Given the description of an element on the screen output the (x, y) to click on. 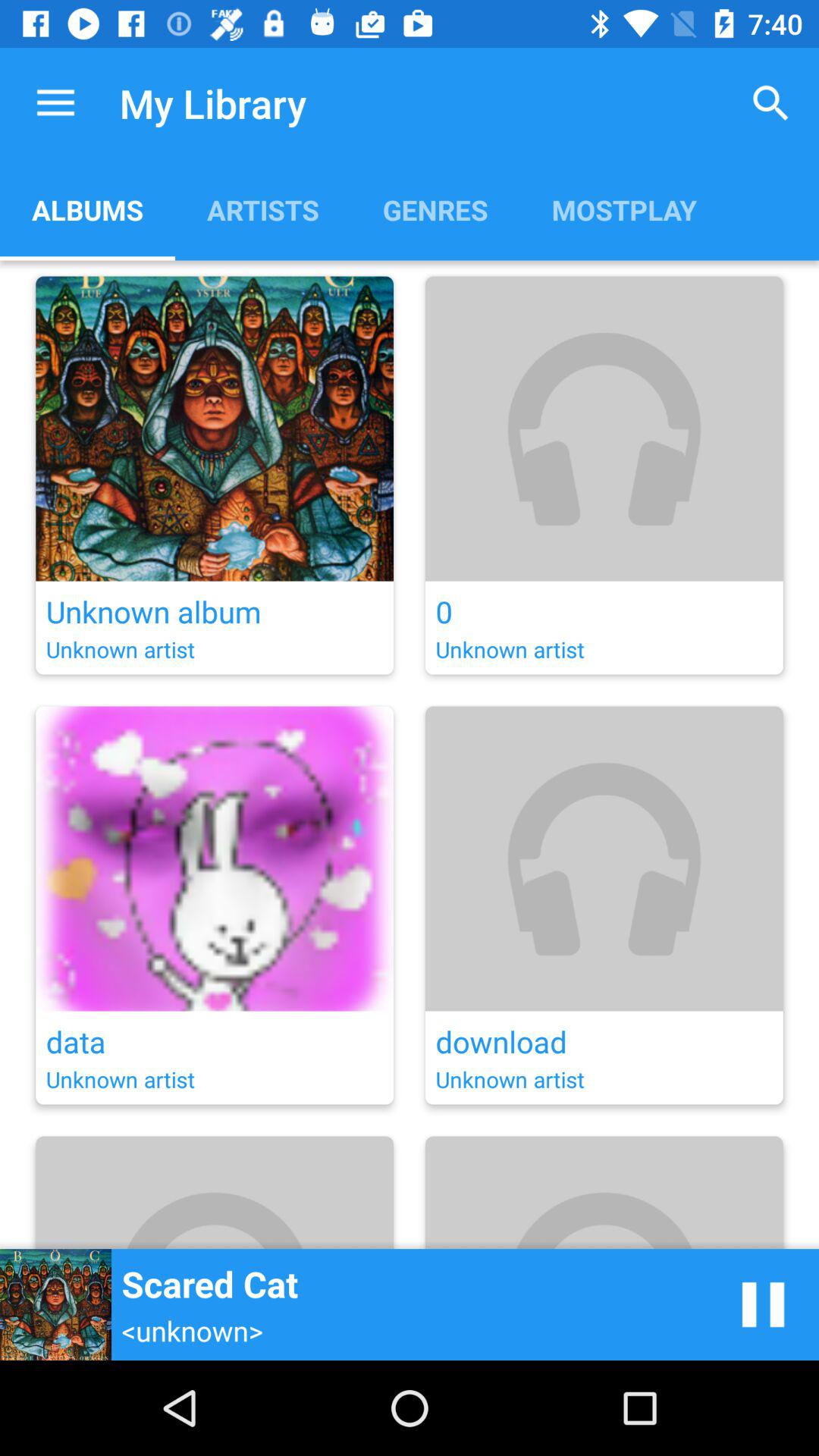
pause button (763, 1304)
